Given the description of an element on the screen output the (x, y) to click on. 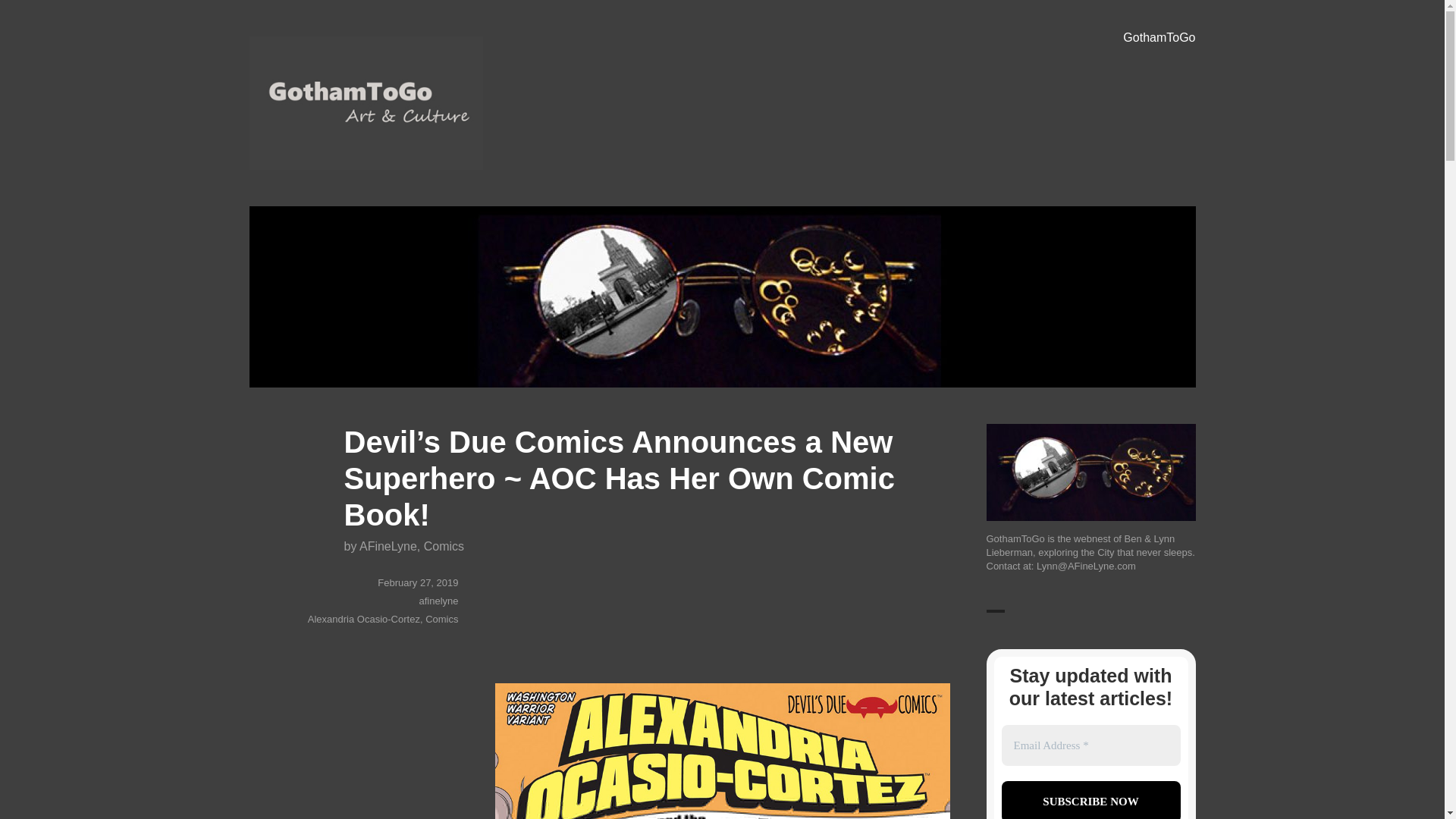
afinelyne (438, 600)
Email Address (1090, 745)
GothamToGo (1158, 37)
by AFineLyne (379, 545)
GothamToGo (319, 191)
Alexandria Ocasio-Cortez (363, 618)
February 27, 2019 (417, 582)
SUBSCRIBE NOW (1090, 800)
SUBSCRIBE NOW (1090, 800)
Search (28, 13)
